Given the description of an element on the screen output the (x, y) to click on. 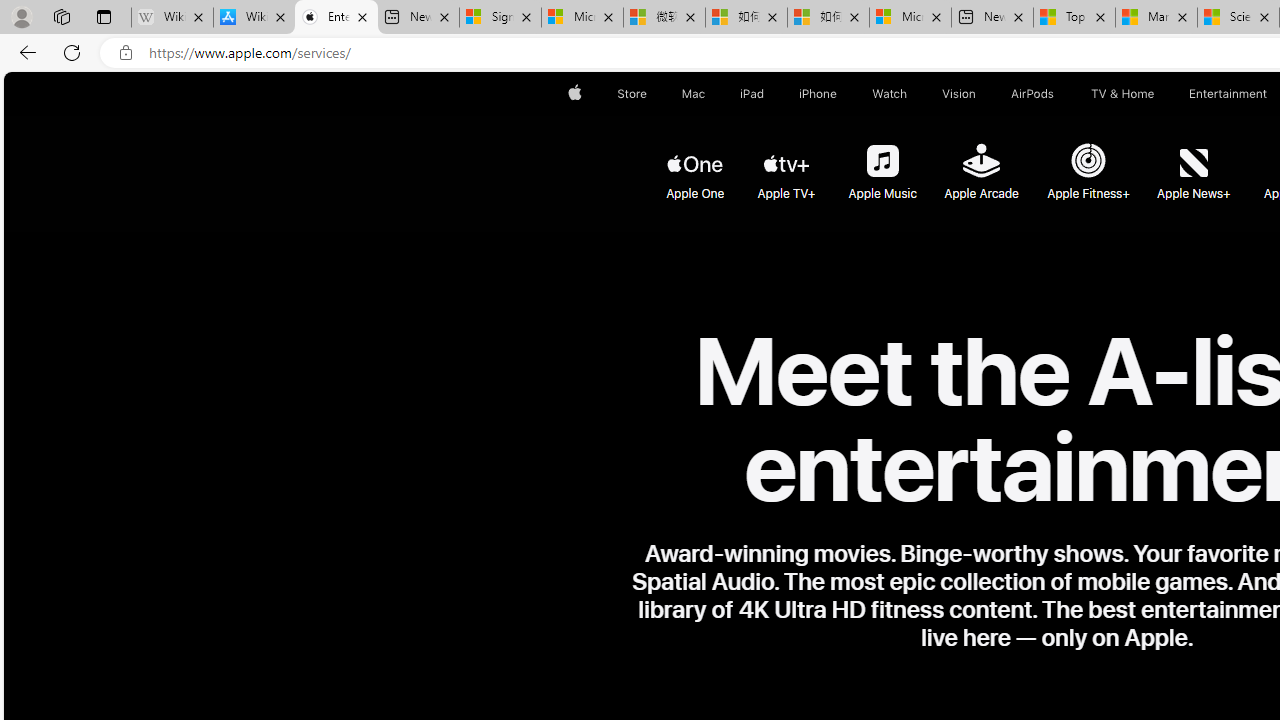
Watch menu (910, 93)
iPad (750, 93)
Store (631, 93)
Apple Arcade (981, 164)
Apple News+ (1195, 162)
Store menu (649, 93)
Marine life - MSN (1156, 17)
Class: globalnav-submenu-trigger-item (1157, 93)
